Given the description of an element on the screen output the (x, y) to click on. 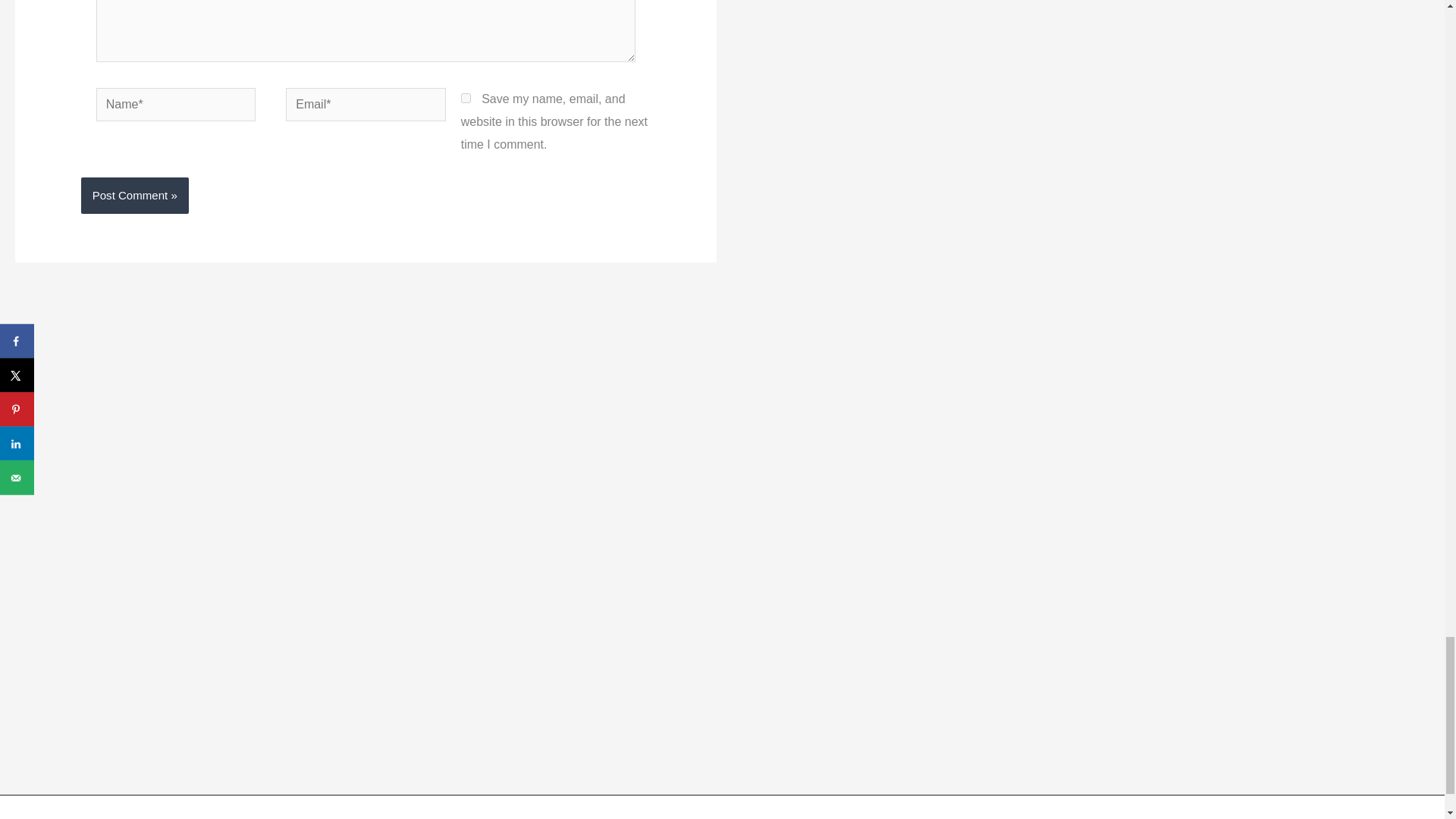
yes (465, 98)
